Given the description of an element on the screen output the (x, y) to click on. 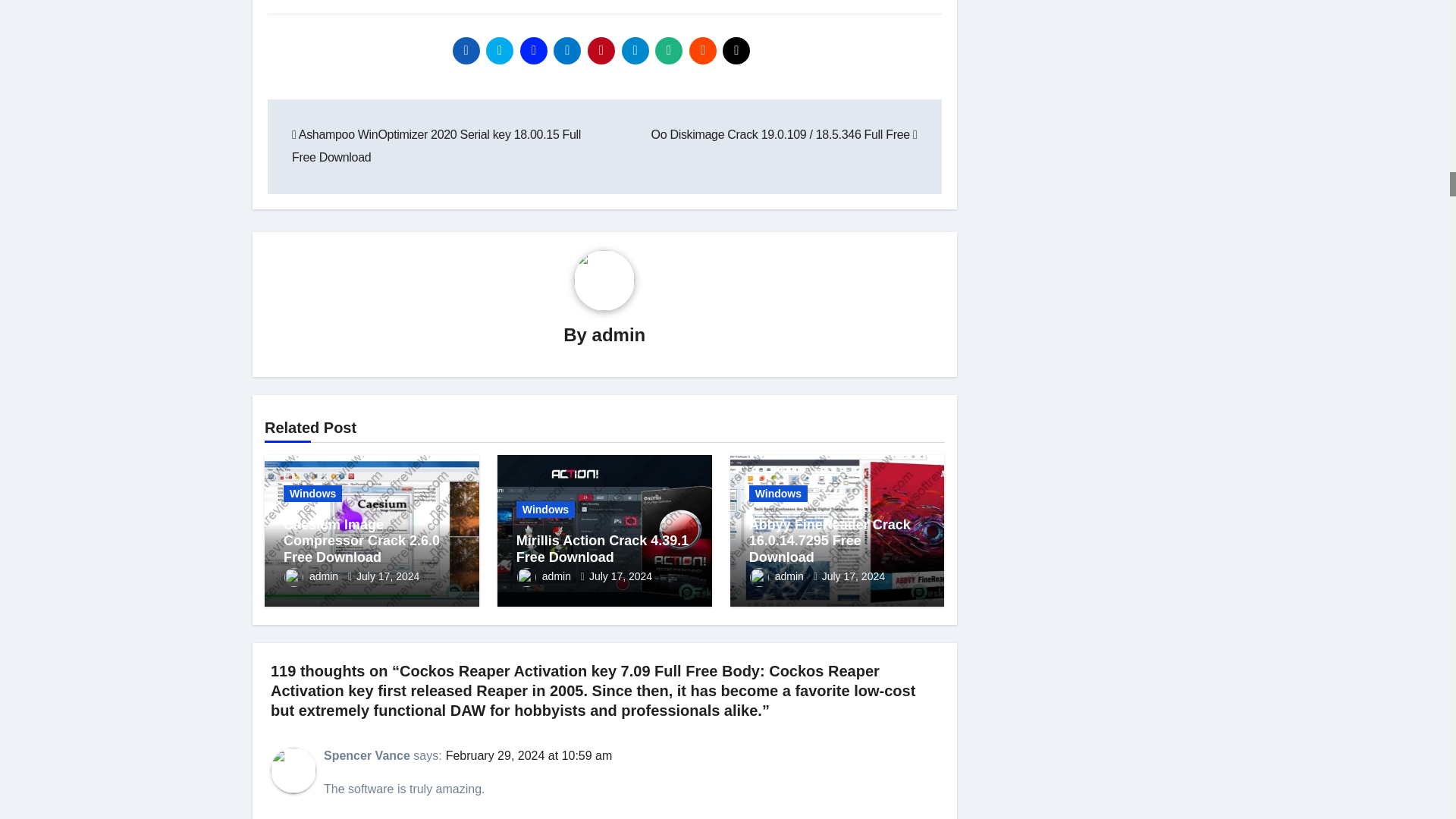
Permalink to: Mirillis Action Crack 4.39.1 Free Download (602, 549)
